Given the description of an element on the screen output the (x, y) to click on. 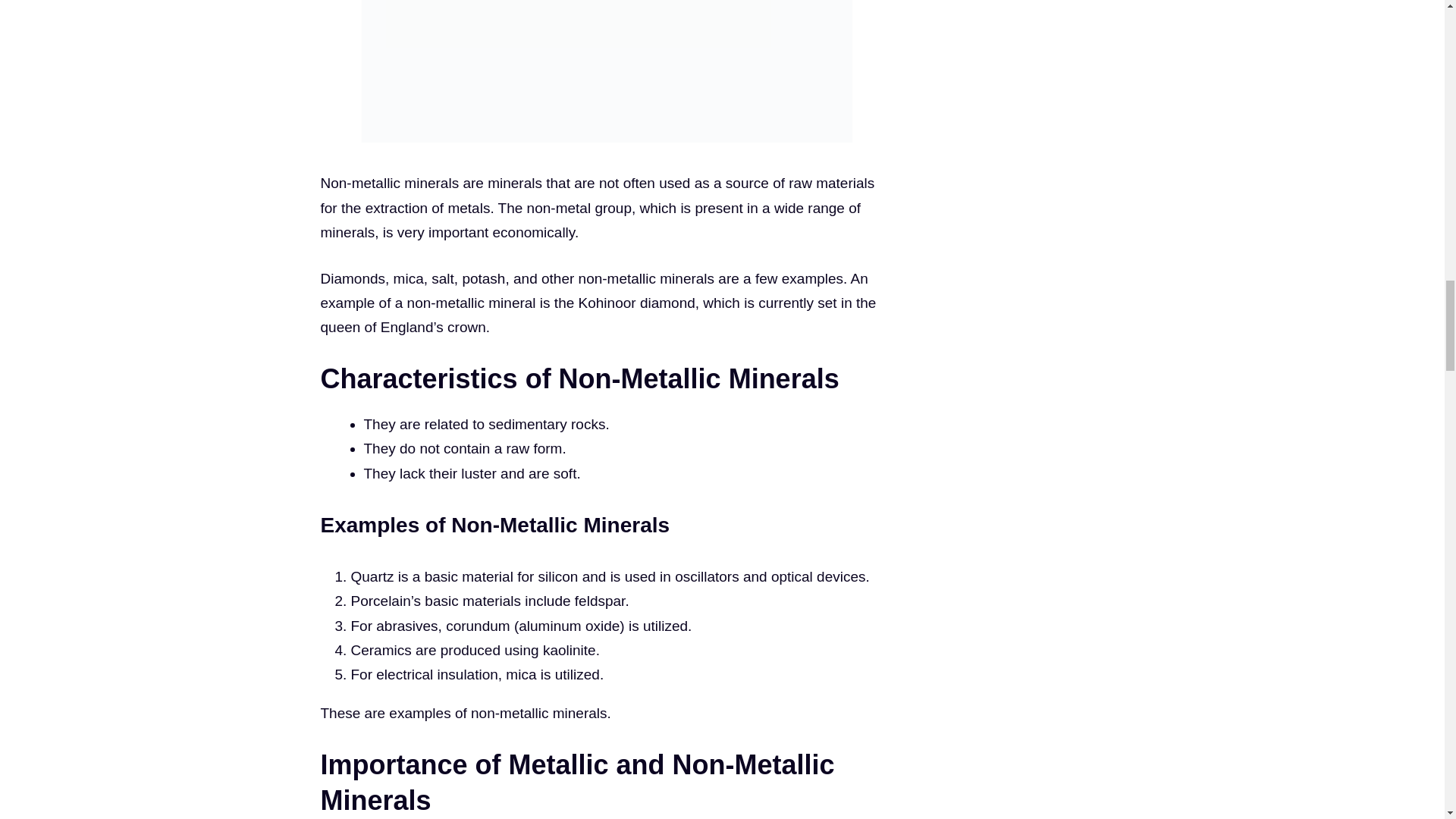
What Are Non Metallic Minerals (605, 71)
